Given the description of an element on the screen output the (x, y) to click on. 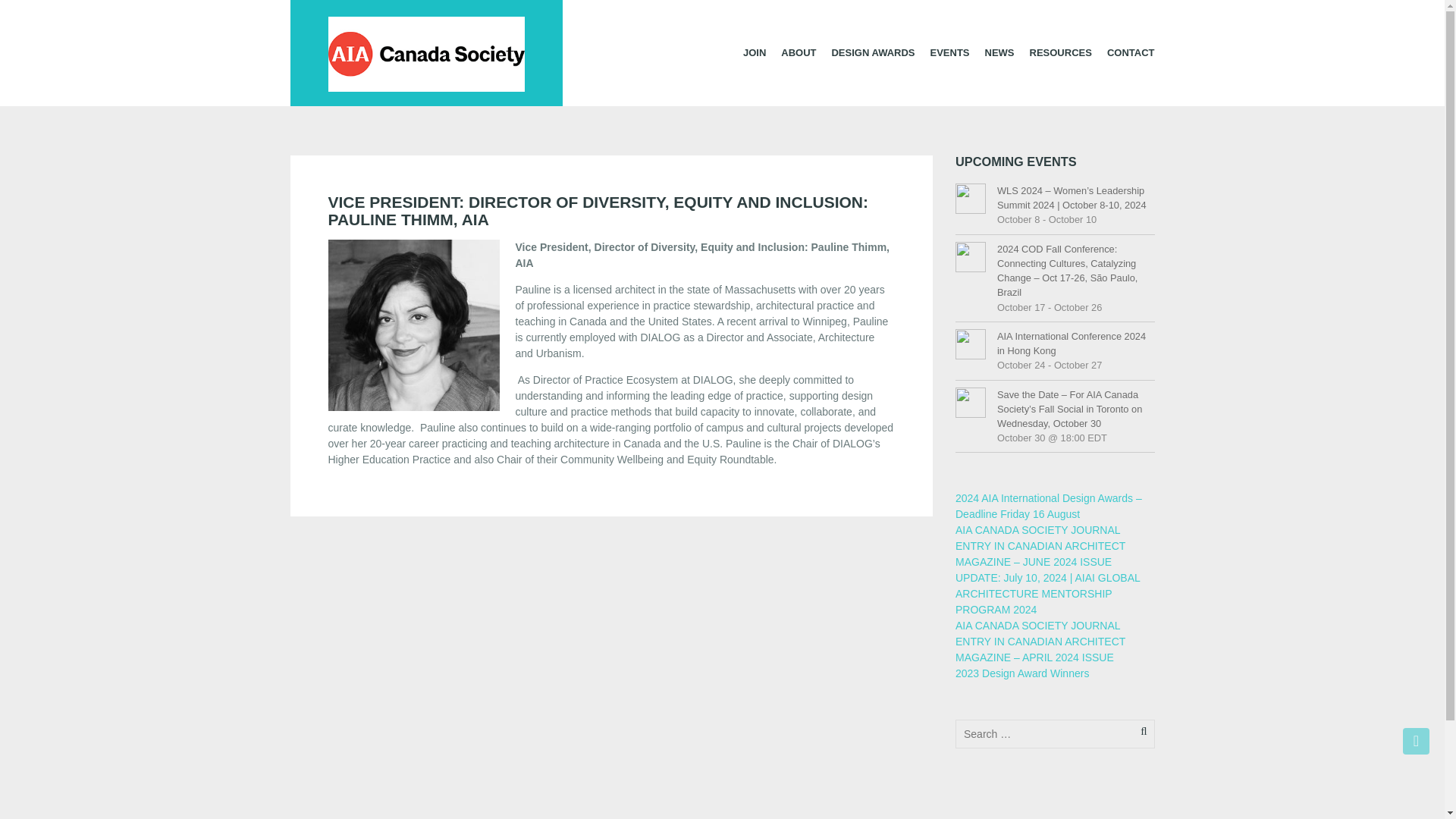
DESIGN AWARDS (872, 52)
AIA International Conference 2024 in Hong Kong (1075, 343)
ABOUT (798, 52)
Search (35, 12)
RESOURCES (1060, 52)
EVENTS (949, 52)
NEWS (999, 52)
2023 Design Award Winners (1022, 673)
JOIN (754, 52)
CONTACT (1130, 52)
